Given the description of an element on the screen output the (x, y) to click on. 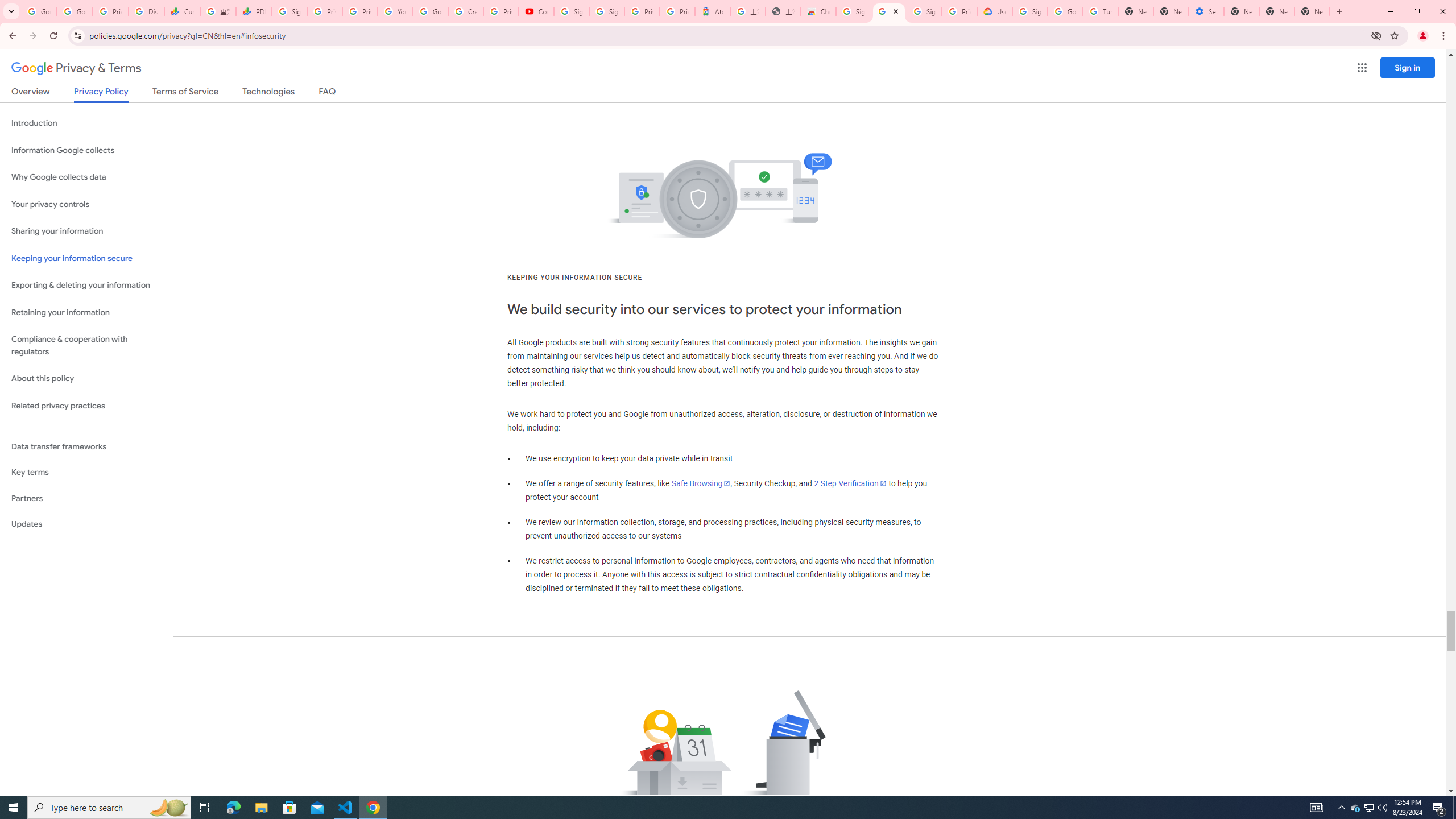
Atour Hotel - Google hotels (712, 11)
Sign in - Google Accounts (853, 11)
Create your Google Account (465, 11)
YouTube (394, 11)
Keeping your information secure (86, 258)
